Given the description of an element on the screen output the (x, y) to click on. 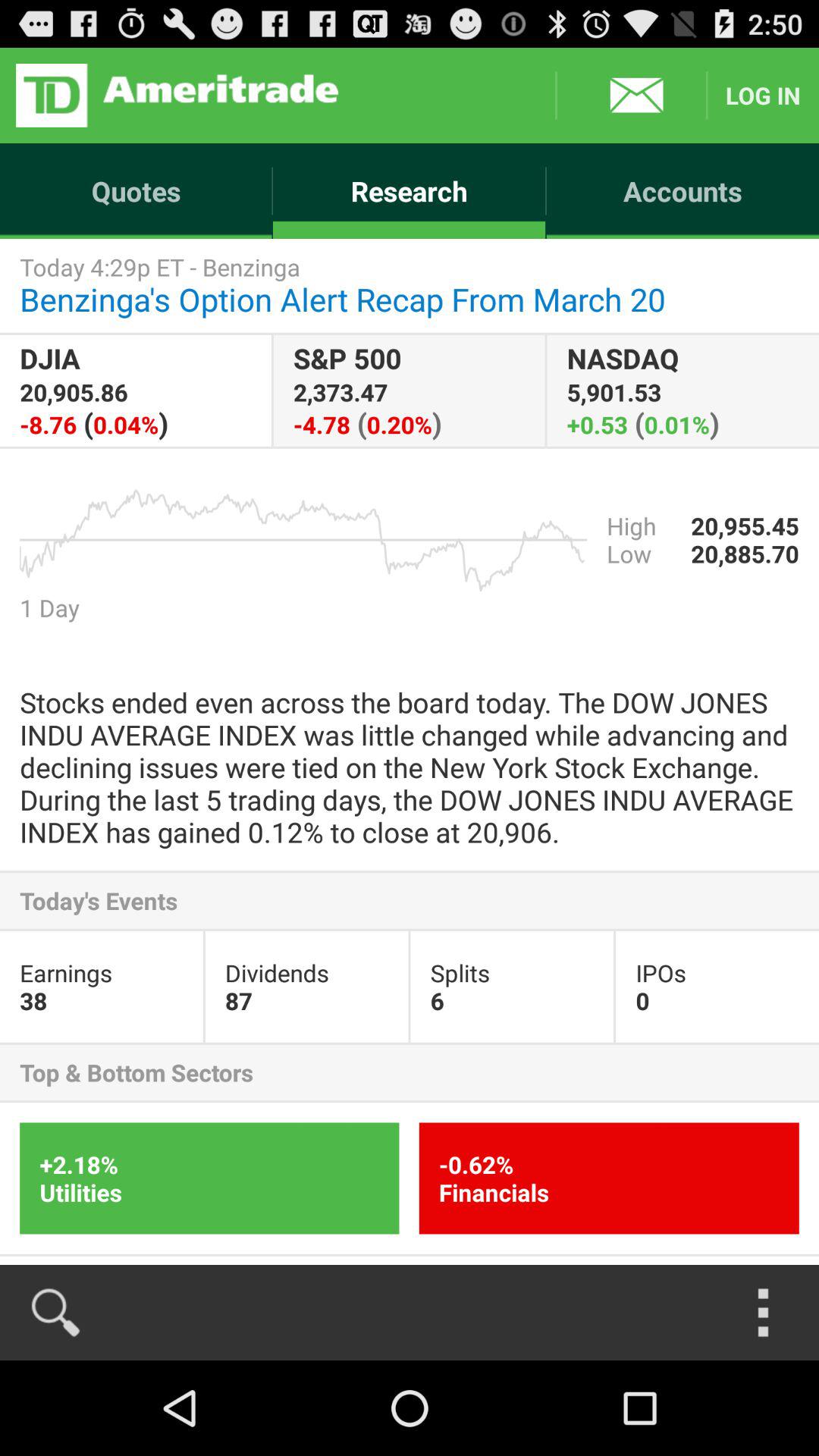
press today 4 29p item (409, 285)
